Given the description of an element on the screen output the (x, y) to click on. 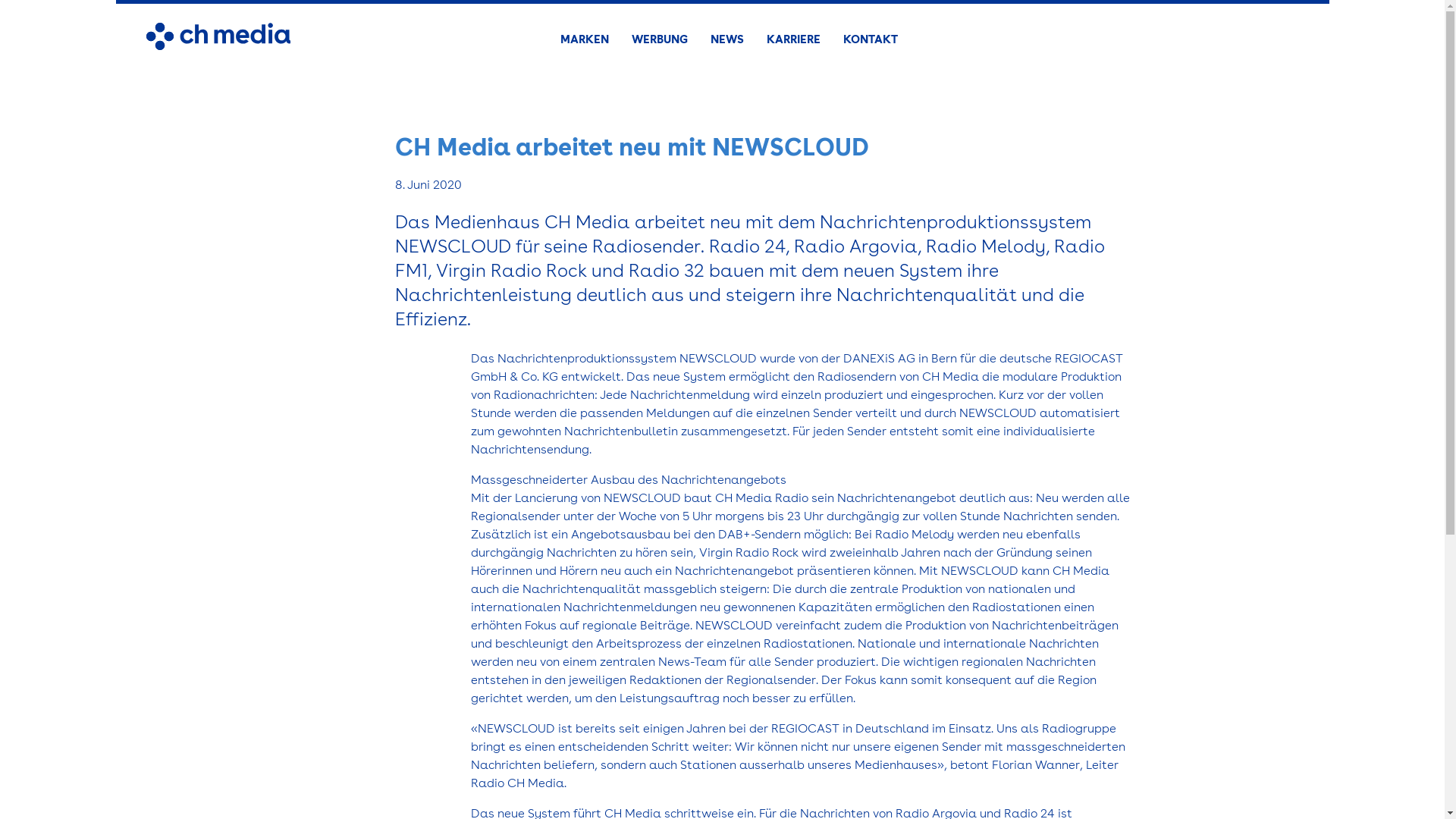
NEWS Element type: text (727, 39)
Direkt zum Inhalt Element type: text (49, 3)
MARKEN Element type: text (584, 39)
KARRIERE Element type: text (793, 39)
KONTAKT Element type: text (870, 39)
WERBUNG Element type: text (659, 39)
